Given the description of an element on the screen output the (x, y) to click on. 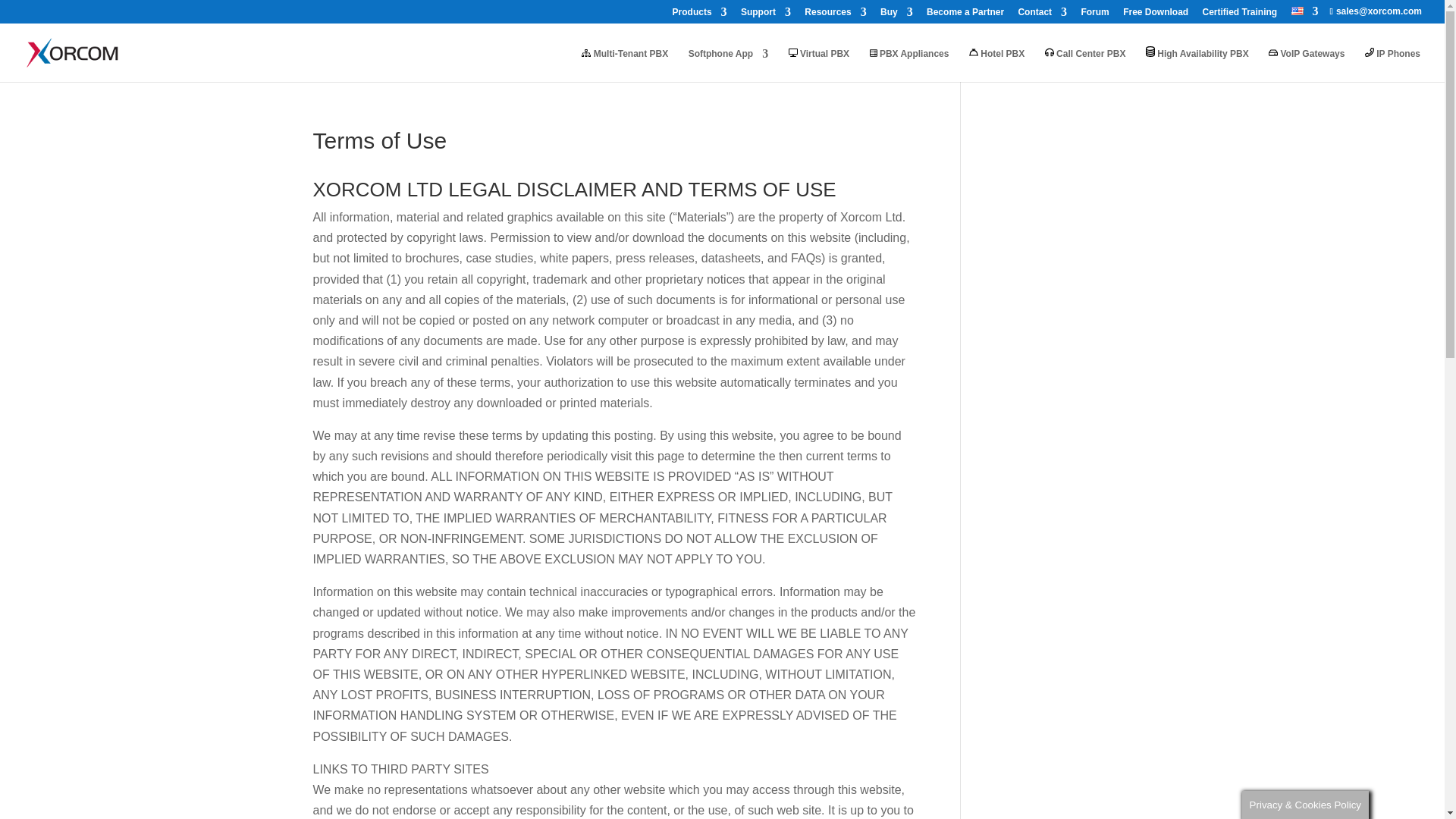
Products (699, 15)
